Given the description of an element on the screen output the (x, y) to click on. 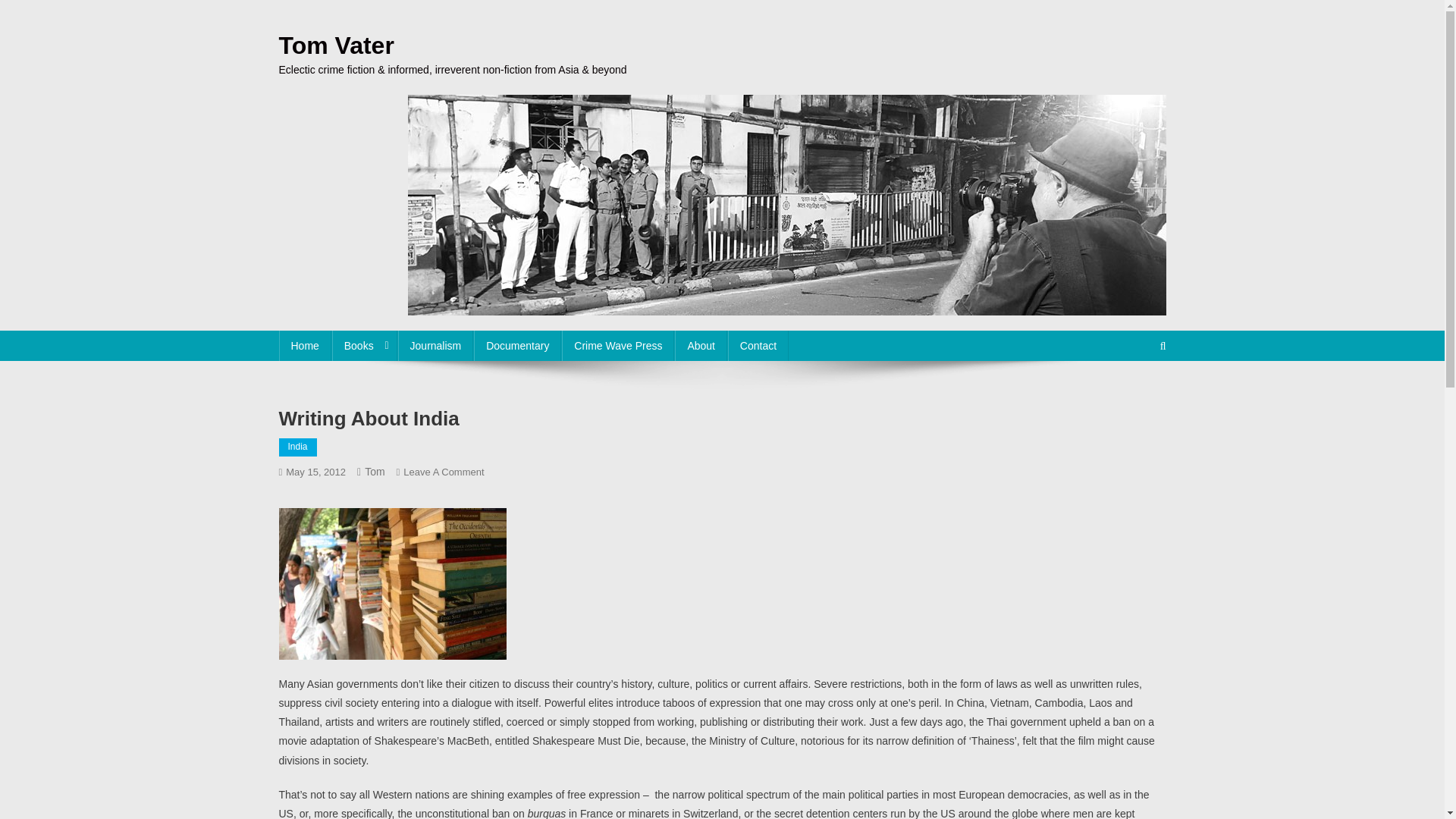
Home (305, 345)
Contact (758, 345)
About (700, 345)
Crime Wave Press (618, 345)
in-books (392, 583)
Search (1133, 396)
India (298, 447)
Tom Vater (336, 44)
Tom (443, 471)
